Given the description of an element on the screen output the (x, y) to click on. 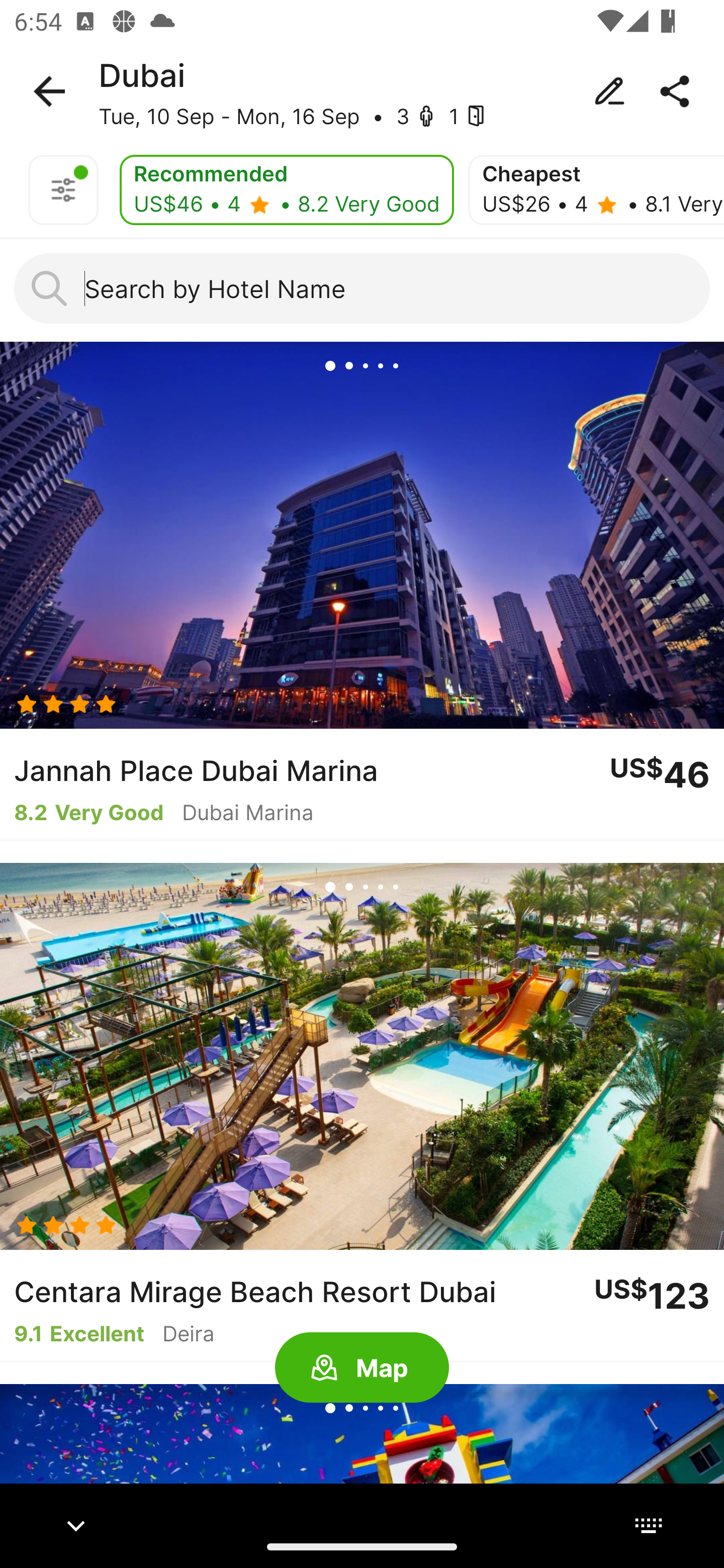
Dubai Tue, 10 Sep - Mon, 16 Sep  •  3 -  1 - (361, 91)
Recommended  US$46  • 4 - • 8.2 Very Good (286, 190)
Cheapest US$26  • 4 - • 8.1 Very Good (596, 190)
Search by Hotel Name  (361, 288)
Map  (361, 1367)
